Given the description of an element on the screen output the (x, y) to click on. 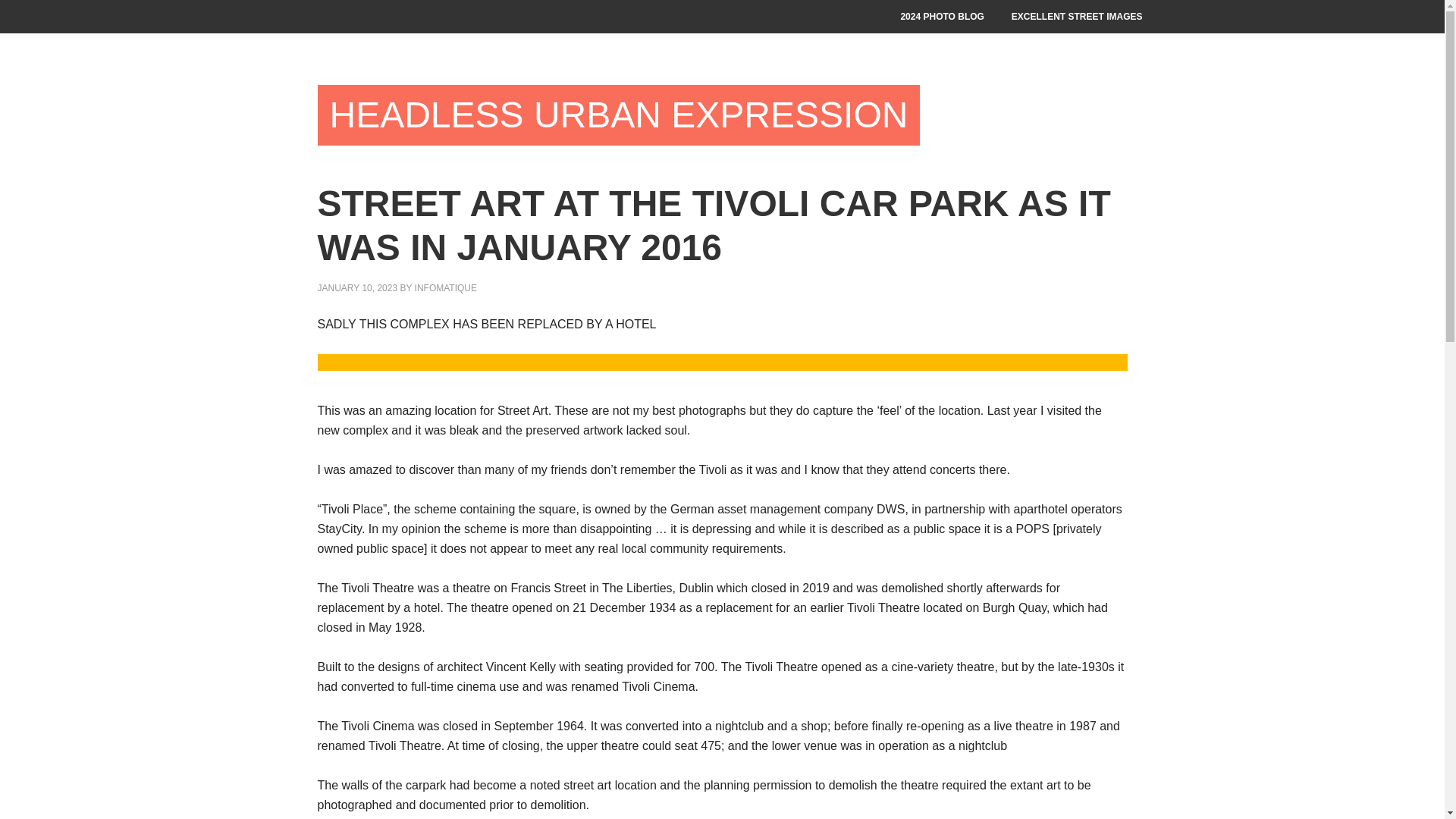
HEADLESS URBAN EXPRESSION (618, 115)
2024 PHOTO BLOG (941, 16)
INFOMATIQUE (445, 287)
EXCELLENT STREET IMAGES (1076, 16)
